Given the description of an element on the screen output the (x, y) to click on. 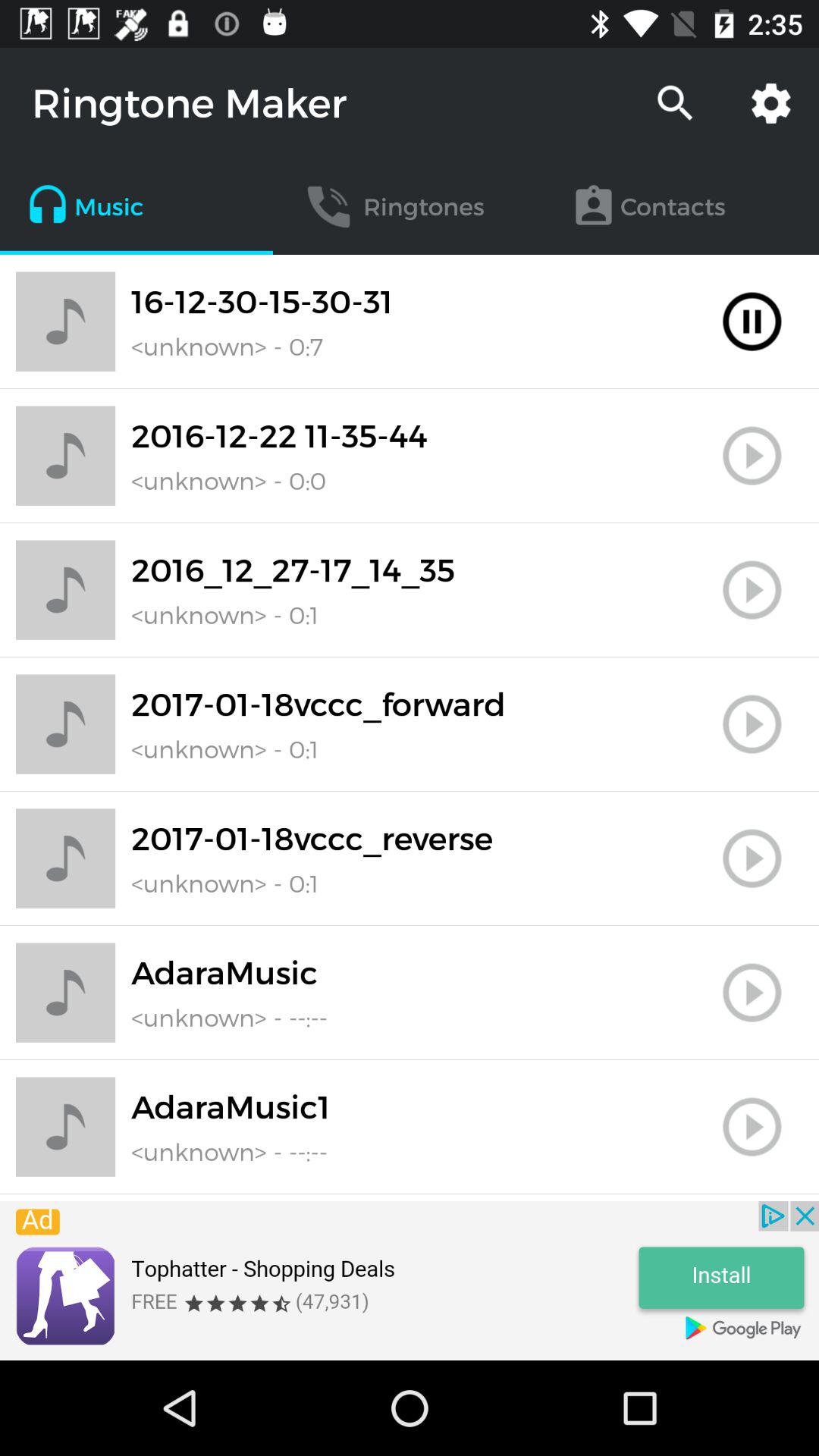
pause playback (752, 321)
